Given the description of an element on the screen output the (x, y) to click on. 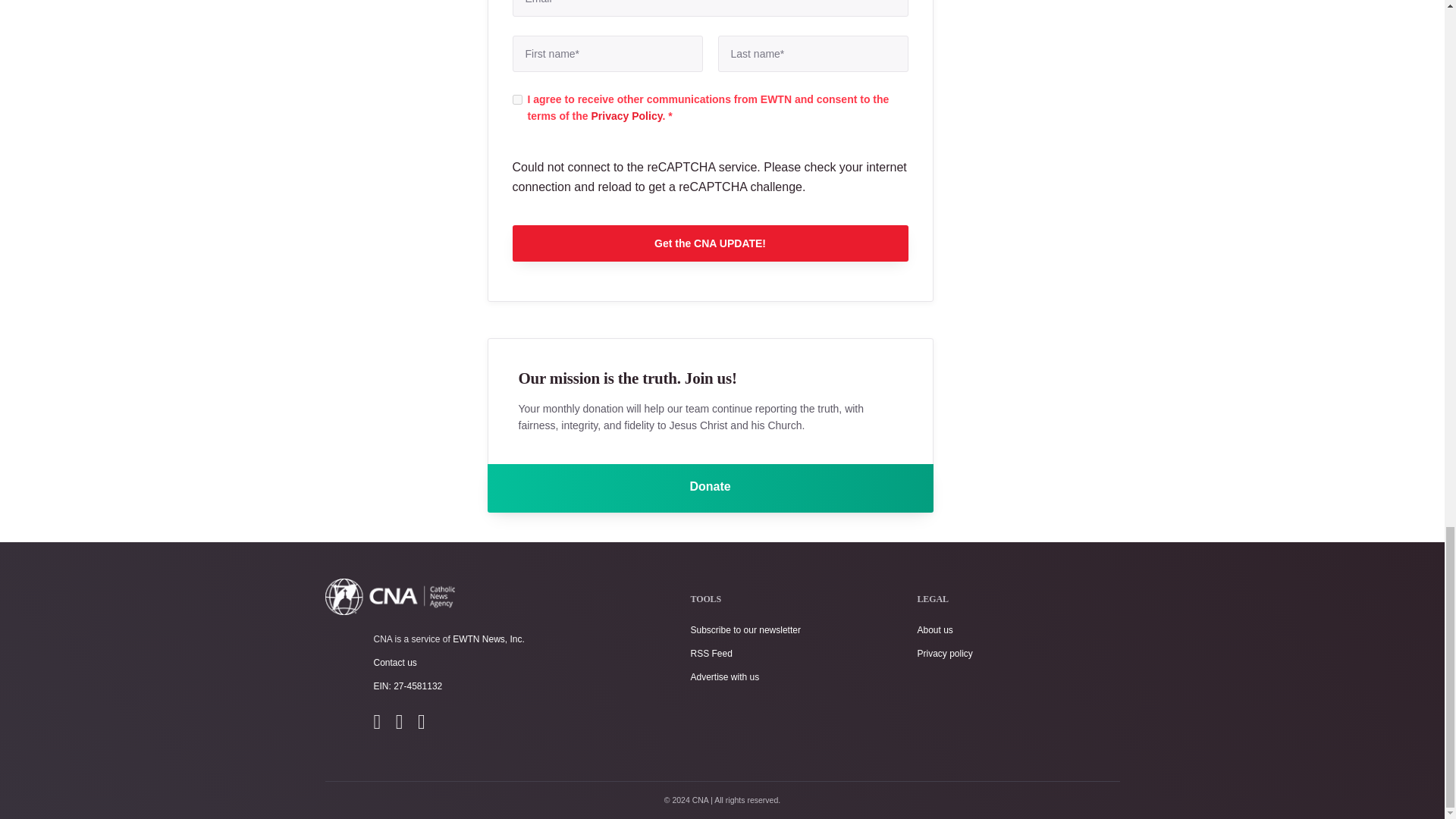
true (517, 99)
Get the CNA UPDATE! (710, 243)
